Given the description of an element on the screen output the (x, y) to click on. 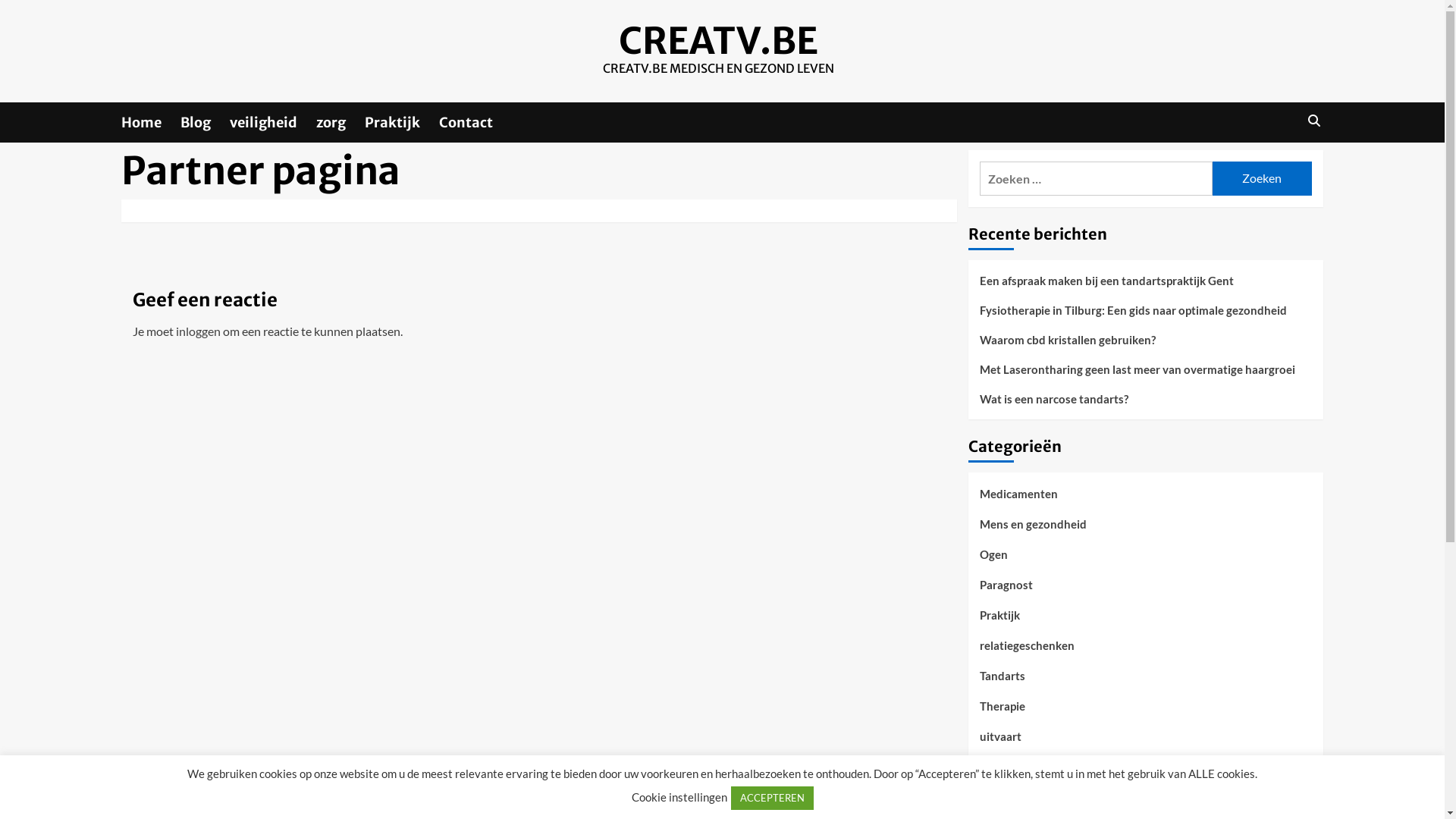
CREATV.BE Element type: text (718, 40)
Tandarts Element type: text (1002, 681)
Blog Element type: text (204, 122)
Mens en gezondheid Element type: text (1032, 529)
Zoeken Element type: text (1261, 178)
Search Element type: hover (1313, 120)
Praktijk Element type: text (401, 122)
Met Laserontharing geen last meer van overmatige haargroei Element type: text (1145, 374)
Cookie instellingen Element type: text (678, 796)
Home Element type: text (150, 122)
Contact Element type: text (475, 122)
Wat is een narcose tandarts? Element type: text (1145, 398)
Uncategorized Element type: text (1017, 772)
veiligheid Element type: text (1004, 802)
Een afspraak maken bij een tandartspraktijk Gent  Element type: text (1145, 286)
Medicamenten Element type: text (1018, 499)
veiligheid Element type: text (272, 122)
Zoeken Element type: text (1278, 167)
uitvaart Element type: text (1000, 741)
Waarom cbd kristallen gebruiken? Element type: text (1145, 345)
Praktijk Element type: text (999, 620)
Ogen Element type: text (993, 559)
ACCEPTEREN Element type: text (772, 797)
relatiegeschenken Element type: text (1026, 650)
Paragnost Element type: text (1005, 590)
zorg Element type: text (340, 122)
inloggen Element type: text (197, 330)
Therapie Element type: text (1002, 711)
Fysiotherapie in Tilburg: Een gids naar optimale gezondheid Element type: text (1145, 315)
